Given the description of an element on the screen output the (x, y) to click on. 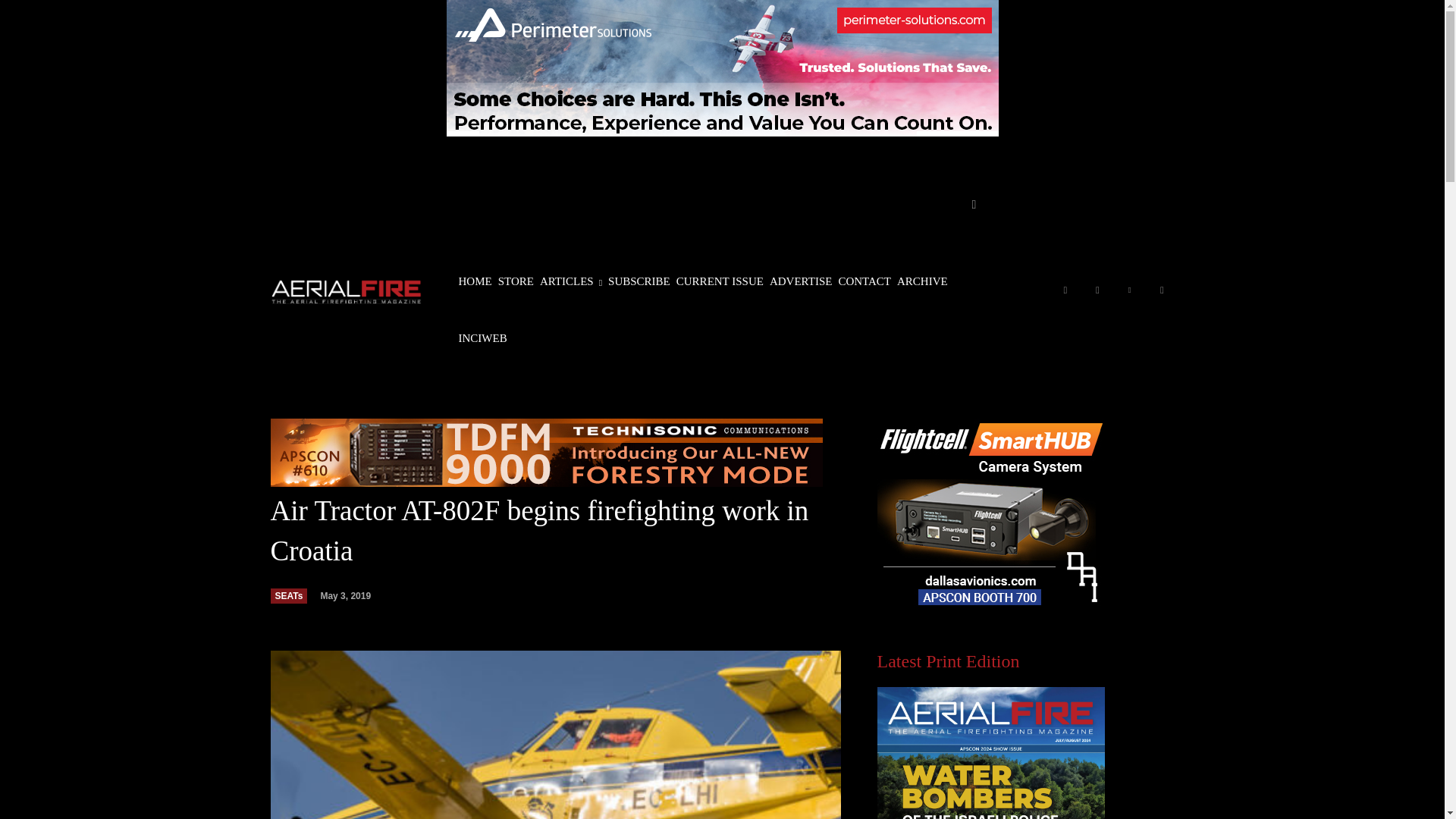
ARTICLES (571, 281)
PerimeterJuly2024 (721, 70)
